Given the description of an element on the screen output the (x, y) to click on. 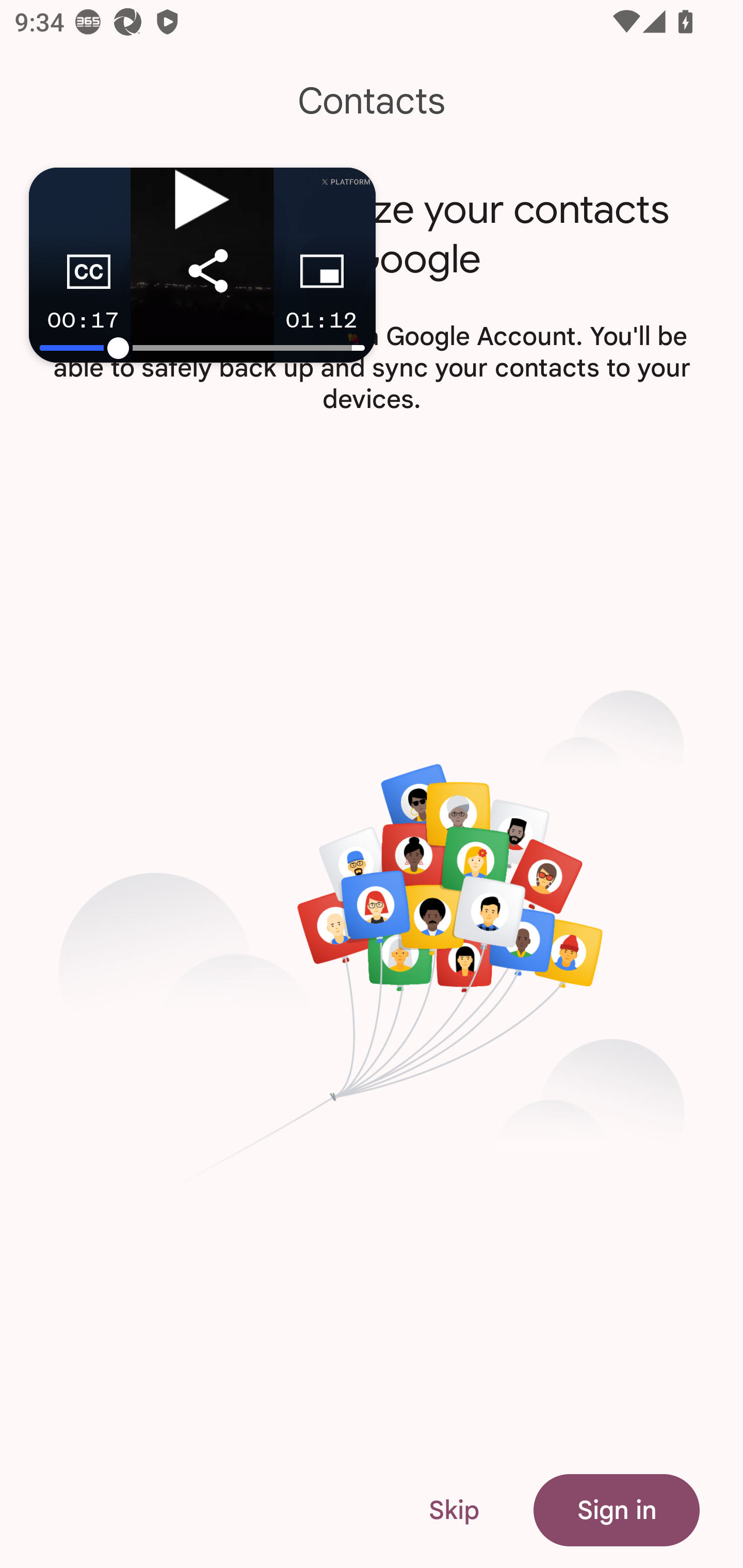
Skip (453, 1510)
Sign in (616, 1510)
